Given the description of an element on the screen output the (x, y) to click on. 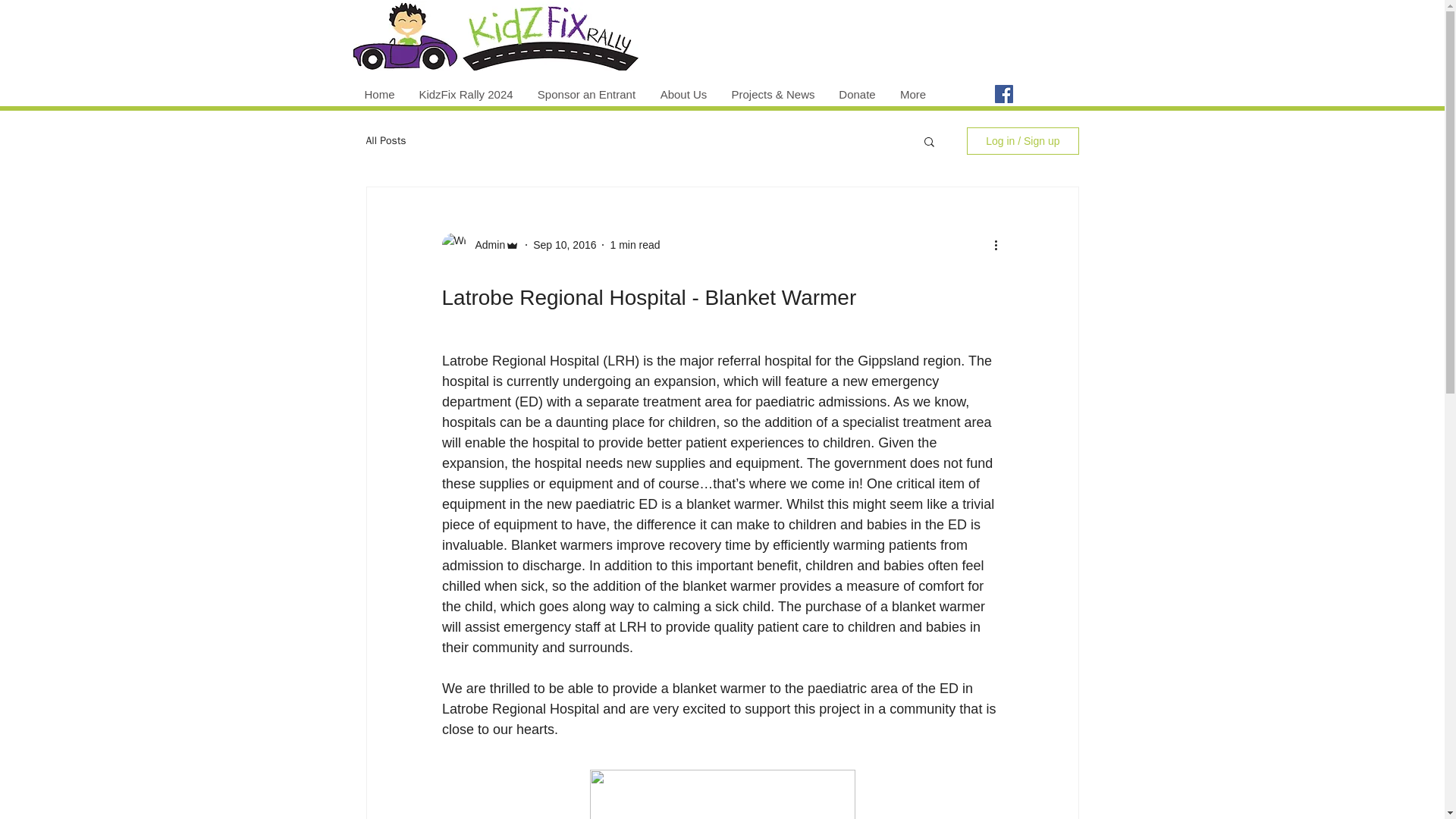
Sep 10, 2016 (563, 244)
About Us (683, 94)
Sponsor an Entrant (585, 94)
Admin (485, 244)
1 min read (634, 244)
All Posts (385, 141)
Home (379, 94)
Donate (856, 94)
KidzFix Rally 2024 (465, 94)
